Given the description of an element on the screen output the (x, y) to click on. 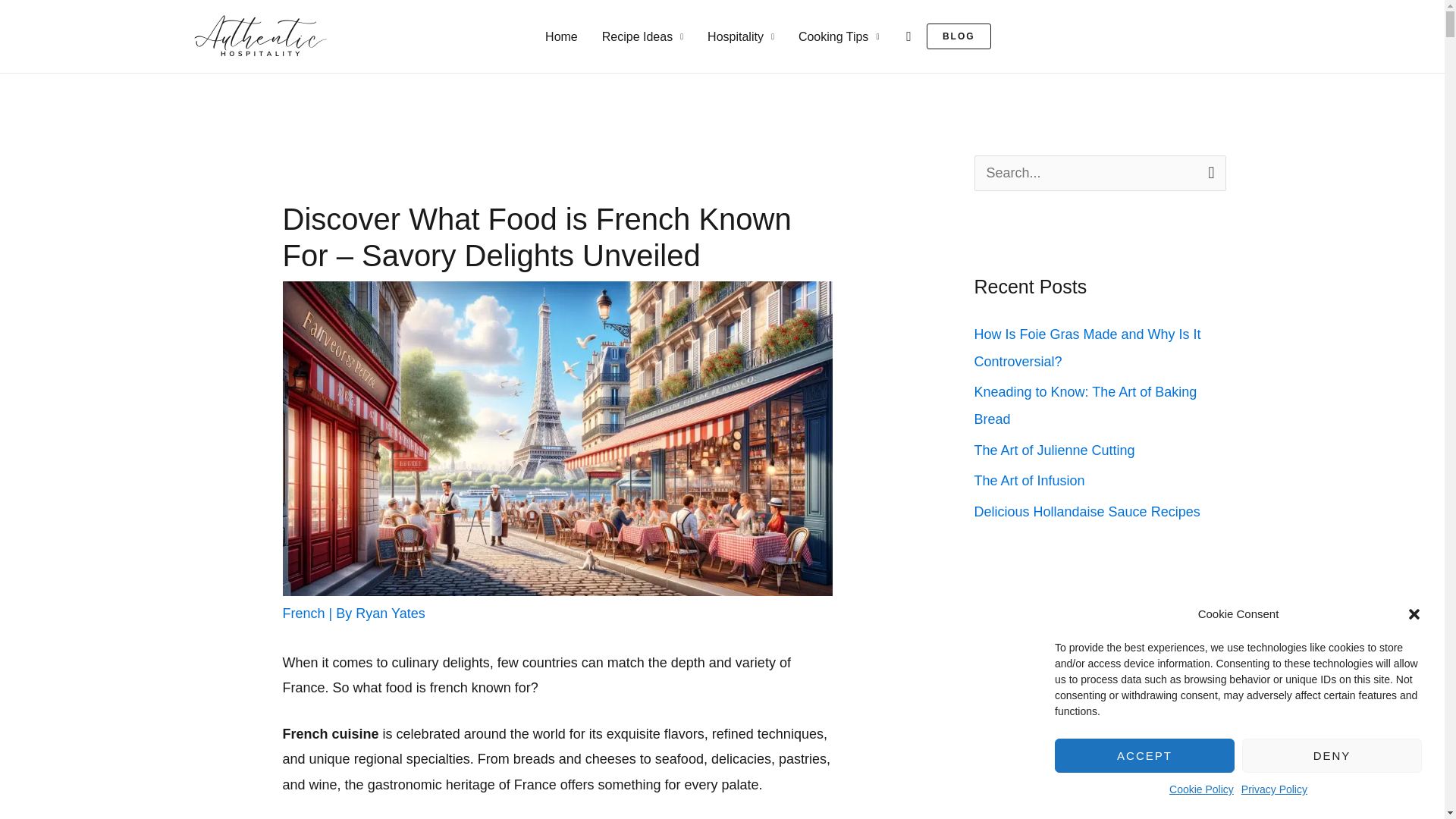
View all posts by Ryan Yates (390, 613)
DENY (1331, 755)
Home (560, 35)
Privacy Policy (1274, 790)
ACCEPT (1144, 755)
Cookie Policy (1201, 790)
Recipe Ideas (642, 35)
Search (1208, 172)
Search (1208, 172)
